Given the description of an element on the screen output the (x, y) to click on. 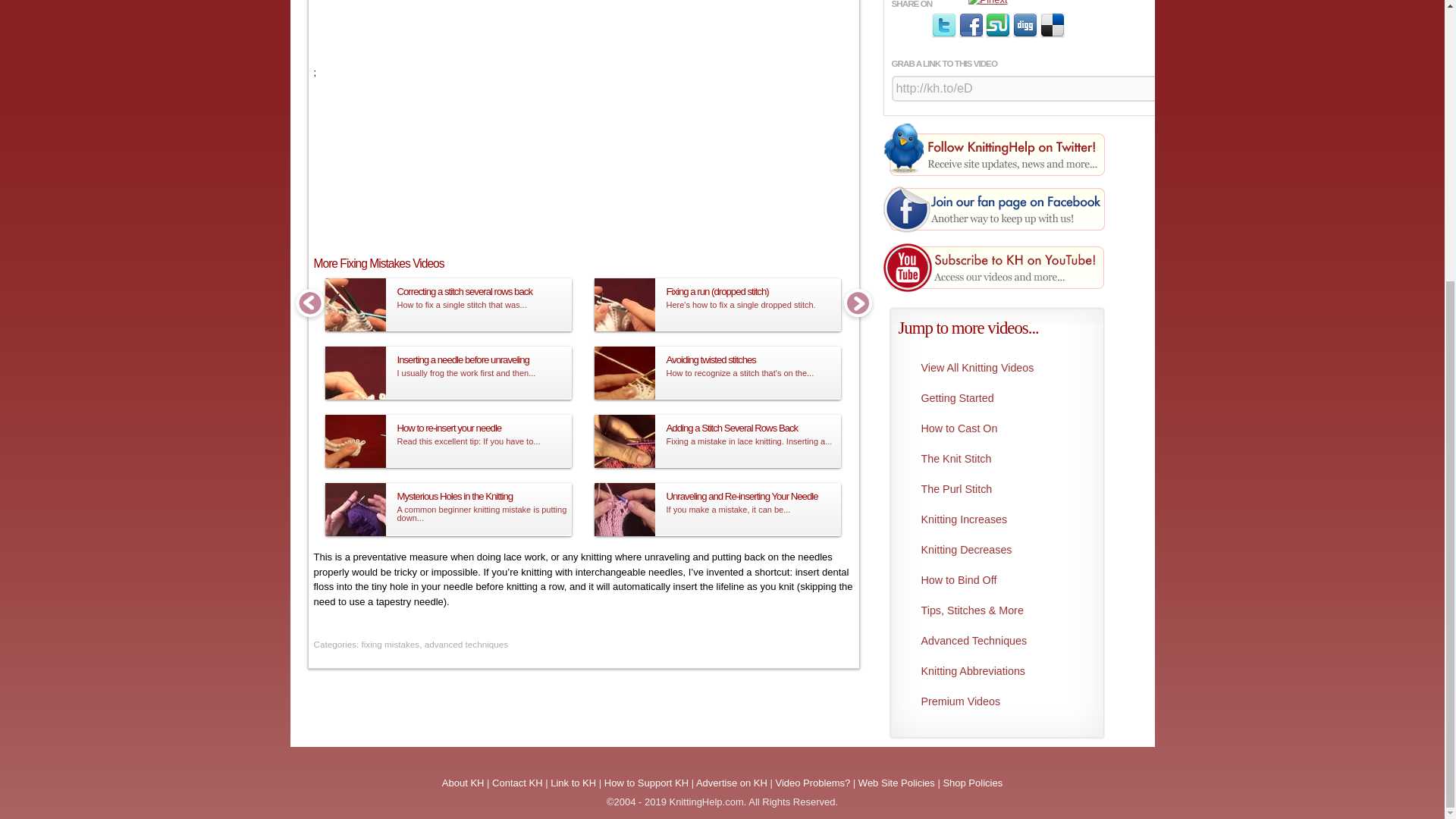
Knitting Increases (992, 519)
Advanced Knitting Techniques (992, 640)
Knitting Video Index (992, 367)
Getting Started (992, 398)
The Knit Stitch (992, 458)
Knitting Tips (992, 610)
Casting On Stitches (992, 428)
Knitting Terms and Abbreviations (992, 671)
Premium Knitting Videos (992, 701)
Getting Started (992, 398)
